Given the description of an element on the screen output the (x, y) to click on. 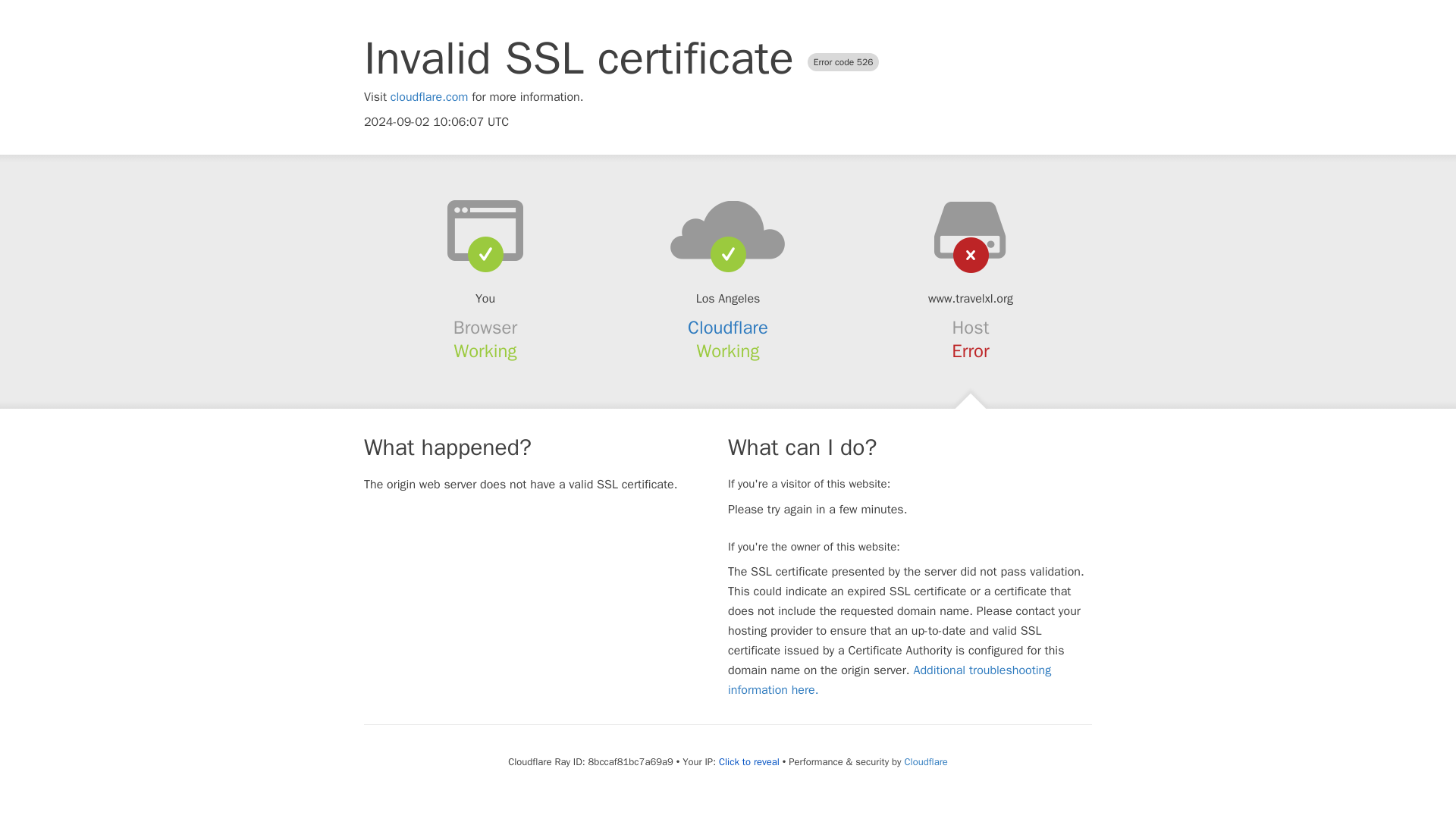
cloudflare.com (429, 96)
Cloudflare (727, 327)
Additional troubleshooting information here. (889, 679)
Cloudflare (925, 761)
Click to reveal (748, 762)
